Given the description of an element on the screen output the (x, y) to click on. 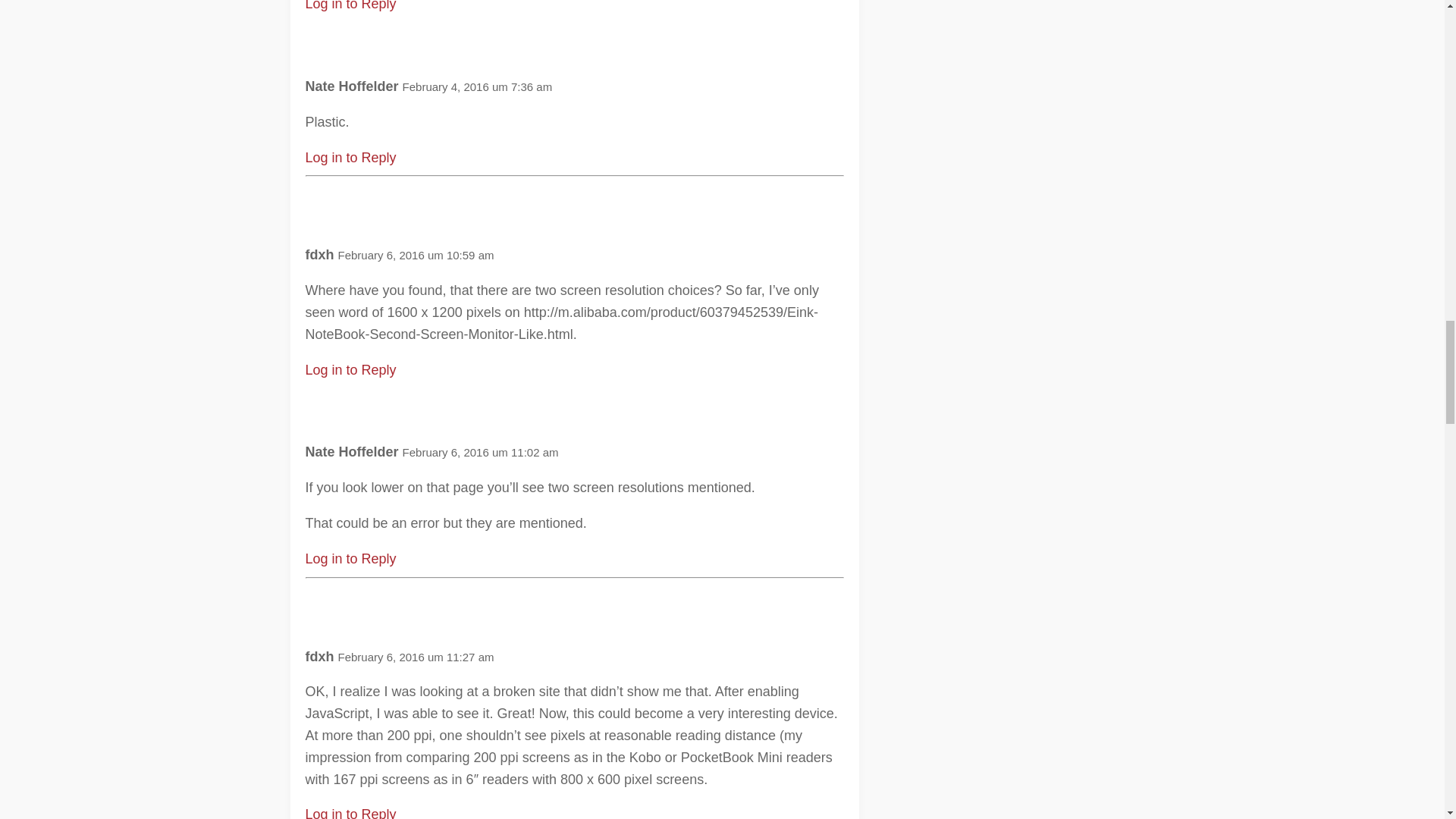
Log in to Reply (350, 369)
Log in to Reply (350, 558)
Log in to Reply (350, 5)
Log in to Reply (350, 812)
Log in to Reply (350, 157)
